Given the description of an element on the screen output the (x, y) to click on. 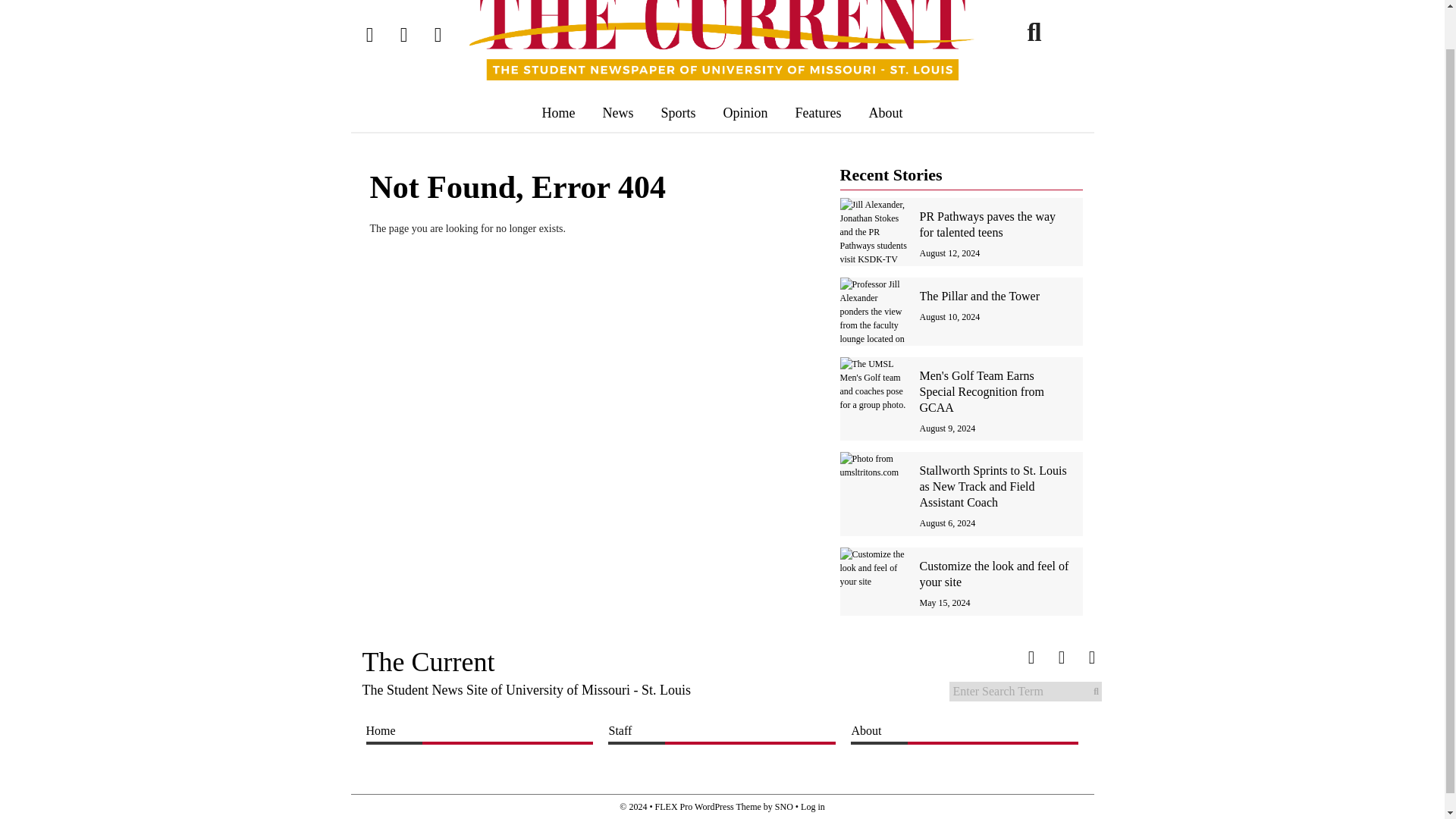
About (886, 112)
News (617, 112)
Features (818, 112)
Home (557, 112)
Opinion (745, 112)
Sports (677, 112)
Open Search Bar (1033, 30)
